Given the description of an element on the screen output the (x, y) to click on. 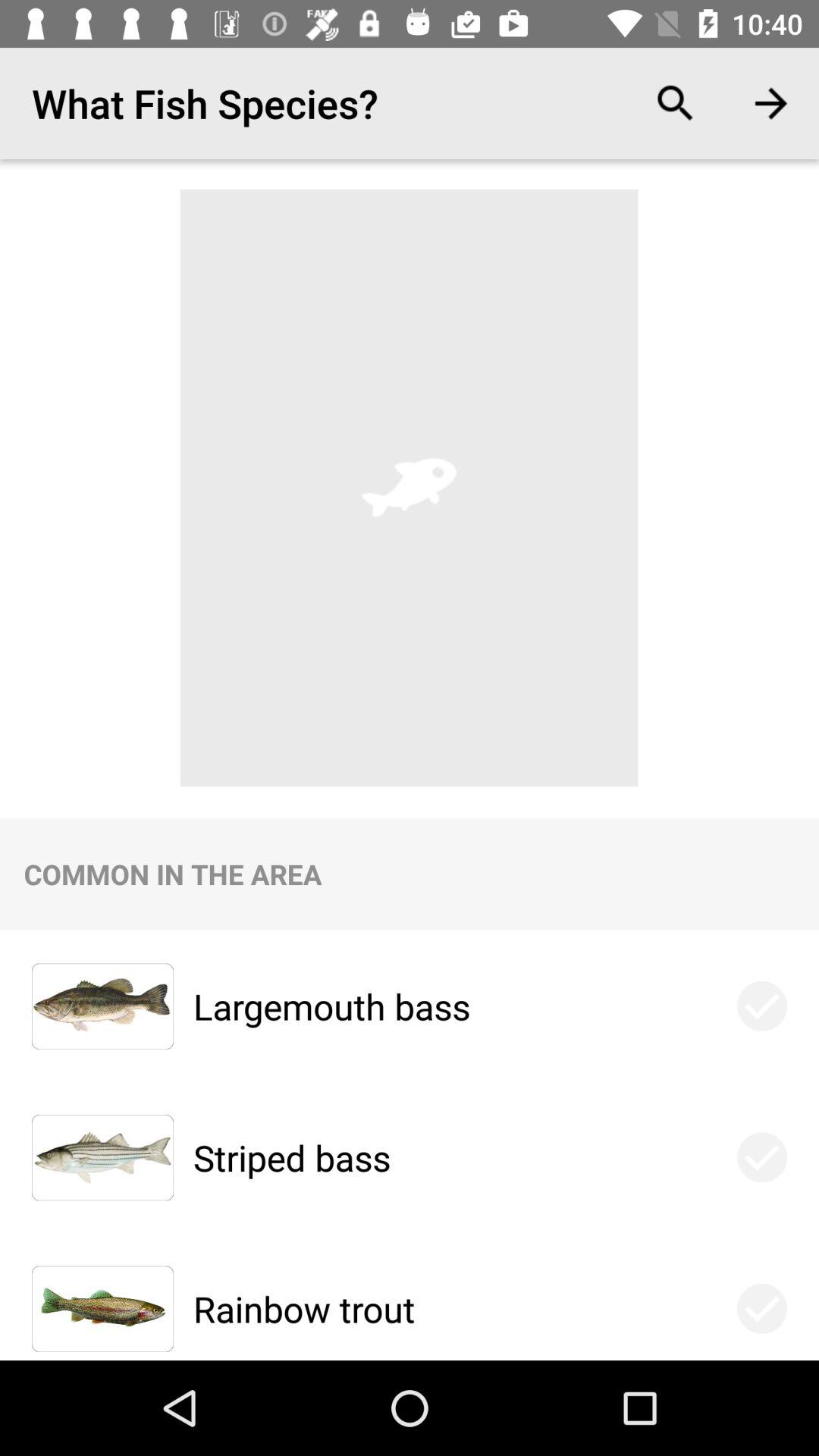
press item above the largemouth bass icon (675, 103)
